Given the description of an element on the screen output the (x, y) to click on. 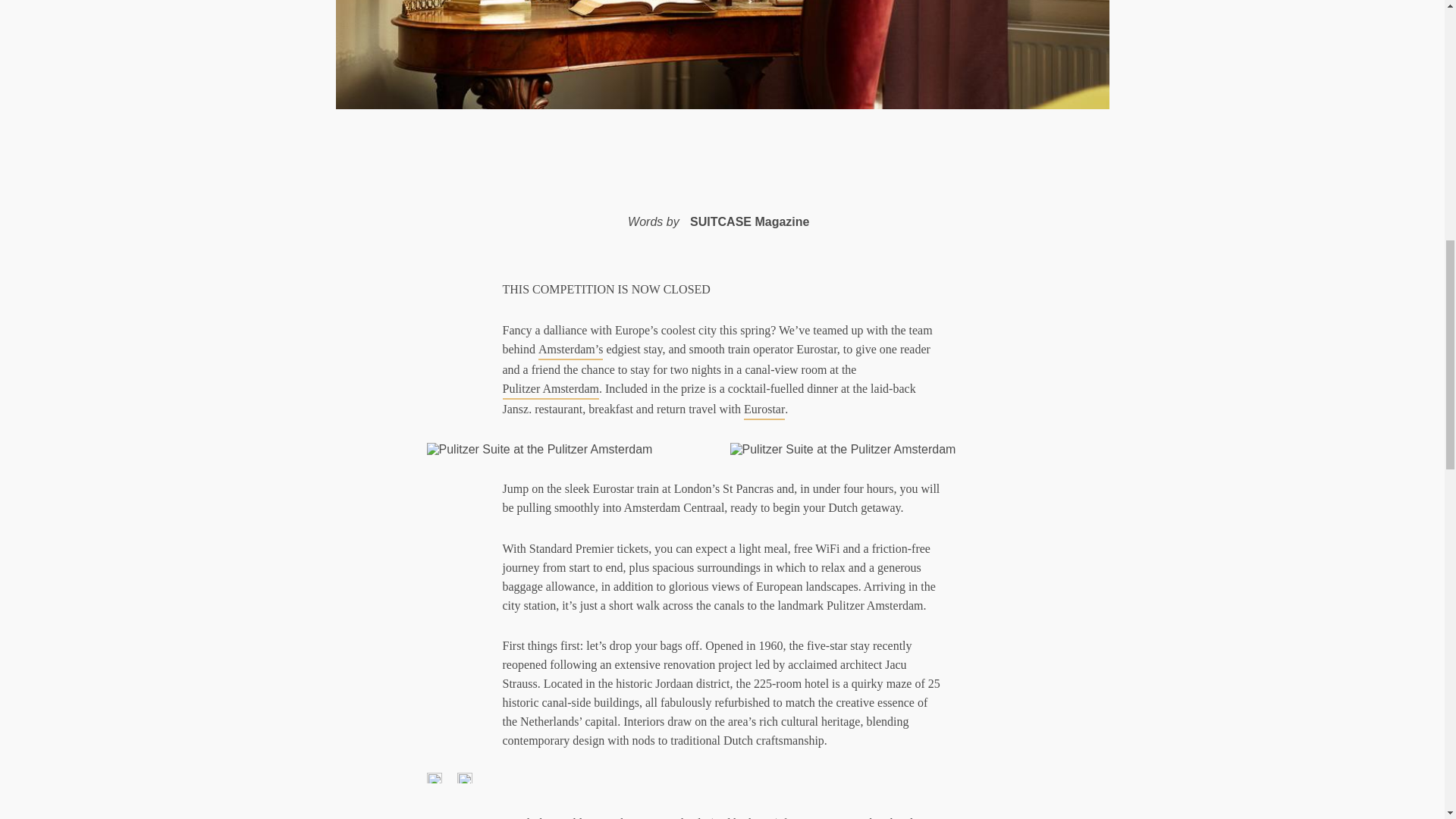
Eurostar (764, 409)
SUITCASE Magazine (749, 222)
Pulitzer Amsterdam (550, 389)
